Given the description of an element on the screen output the (x, y) to click on. 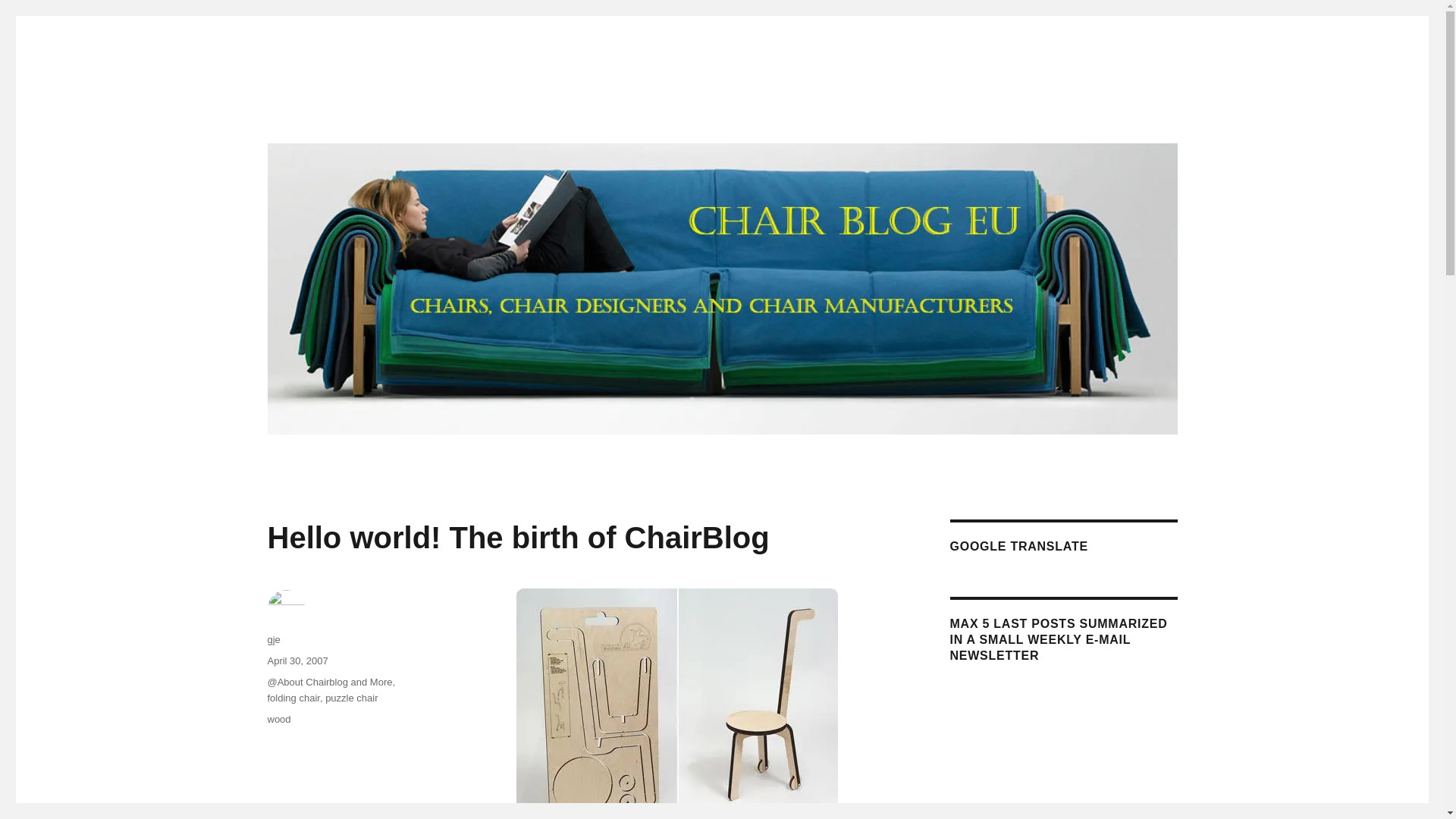
folding chair (292, 697)
wood (277, 718)
puzzle chair (350, 697)
April 30, 2007 (296, 660)
Chairblog.eu (331, 114)
gje (272, 639)
